Given the description of an element on the screen output the (x, y) to click on. 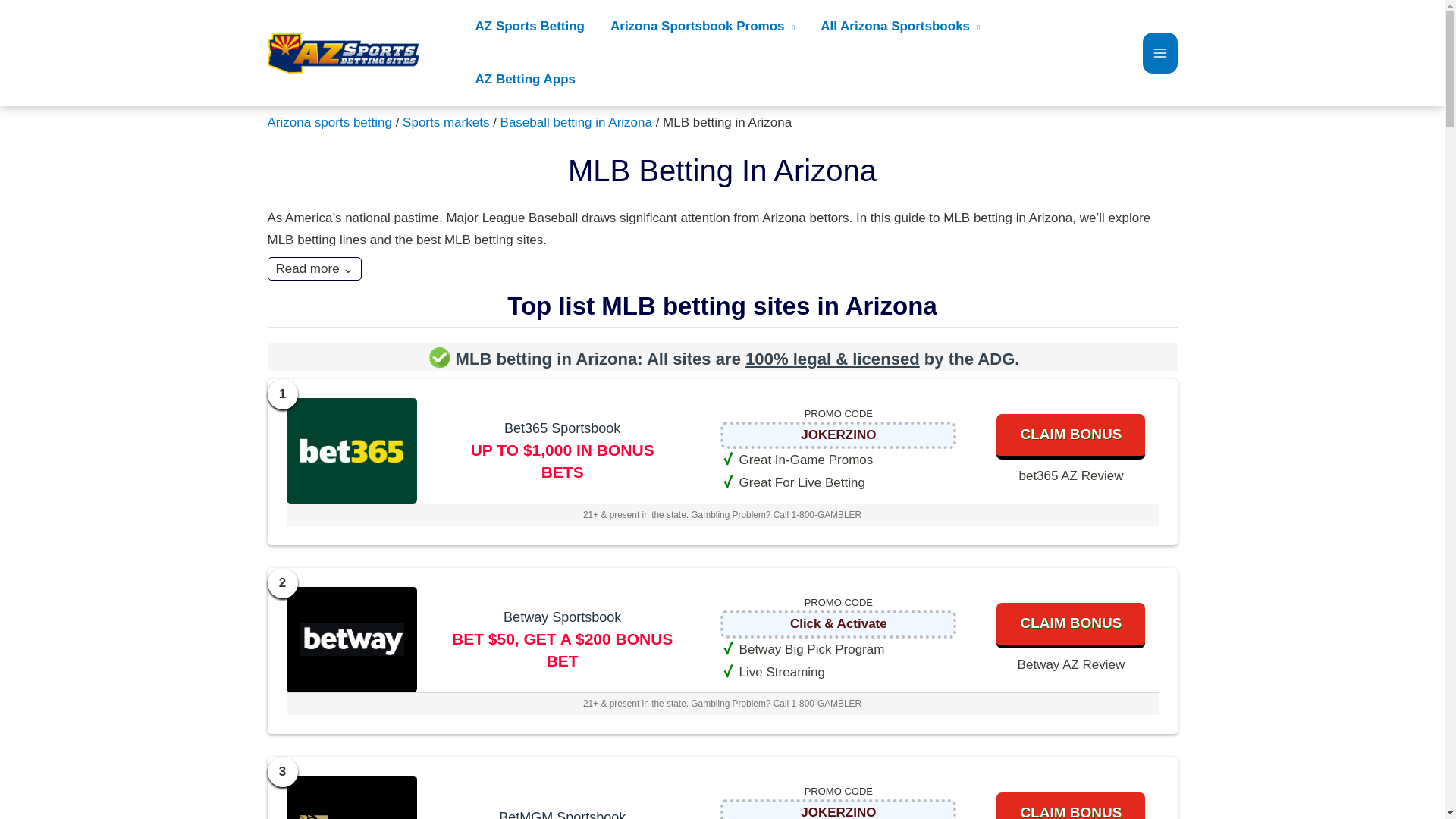
Arizona Sportsbook Promos (702, 26)
JOKERZINO (838, 435)
Baseball betting in Arizona (576, 122)
betway (351, 639)
AZ Sports Betting (530, 26)
AZ Betting Apps (526, 79)
All Arizona Sportsbooks (900, 26)
Arizona sports betting (328, 122)
BetMGM (838, 810)
bet365 (838, 435)
Sports markets (446, 122)
bet365 AZ Review (1069, 476)
betway (838, 624)
bet365 (351, 450)
